Given the description of an element on the screen output the (x, y) to click on. 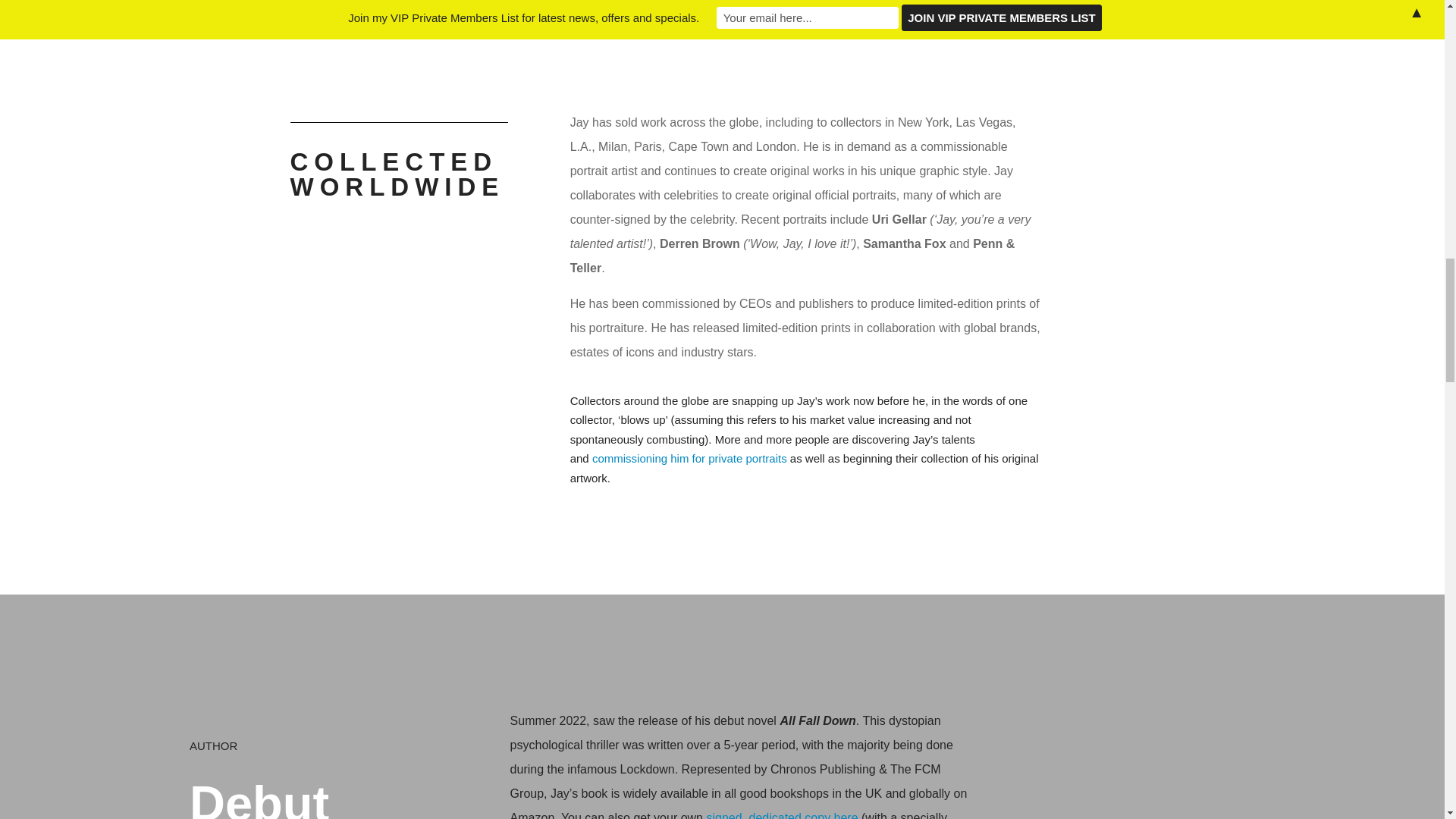
commissioning him for private portraits (689, 458)
signed, dedicated copy here (781, 815)
